Given the description of an element on the screen output the (x, y) to click on. 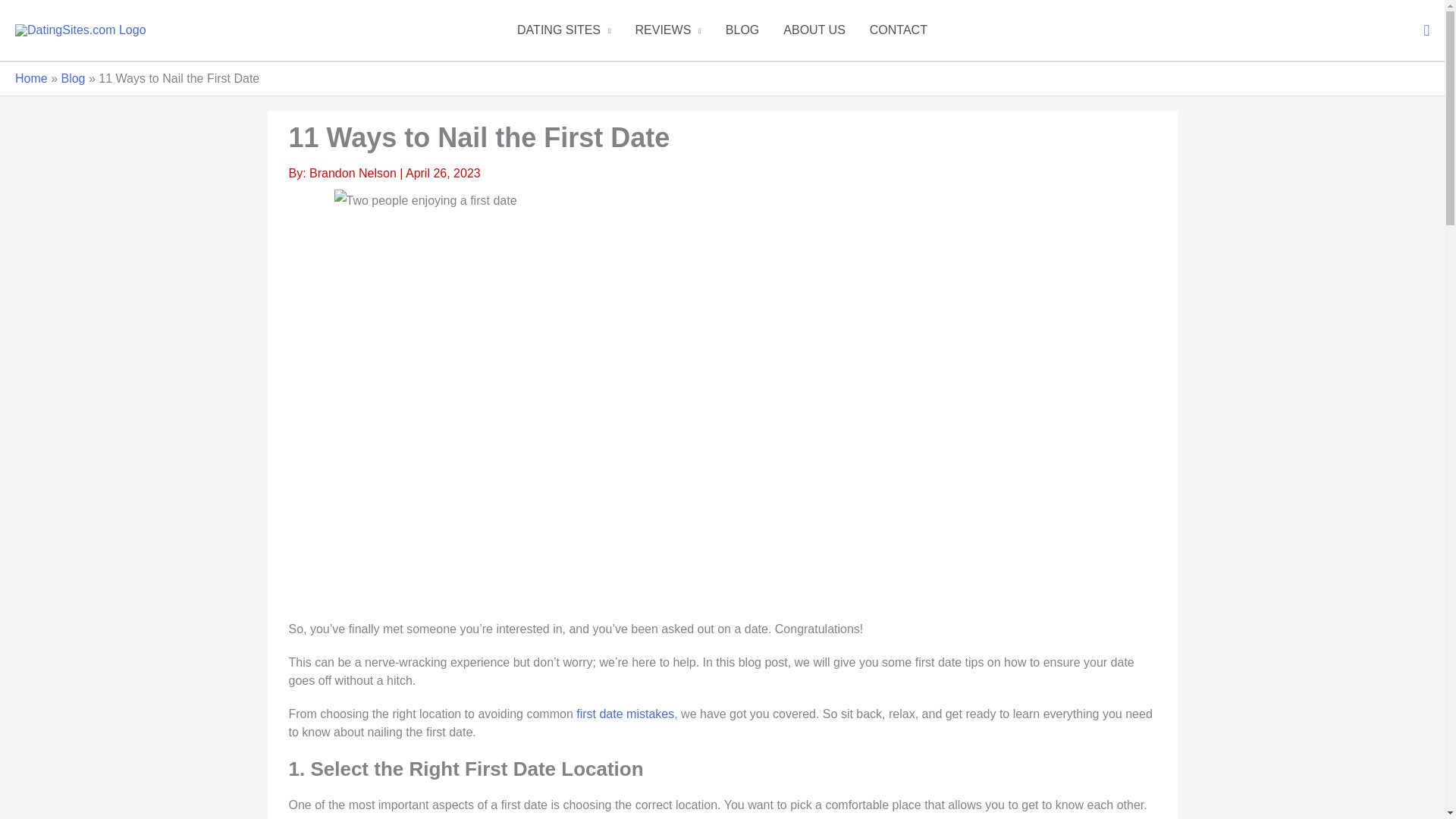
View all posts by Brandon Nelson (353, 173)
BLOG (742, 30)
DATING SITES (564, 30)
CONTACT (898, 30)
ABOUT US (814, 30)
REVIEWS (668, 30)
